Given the description of an element on the screen output the (x, y) to click on. 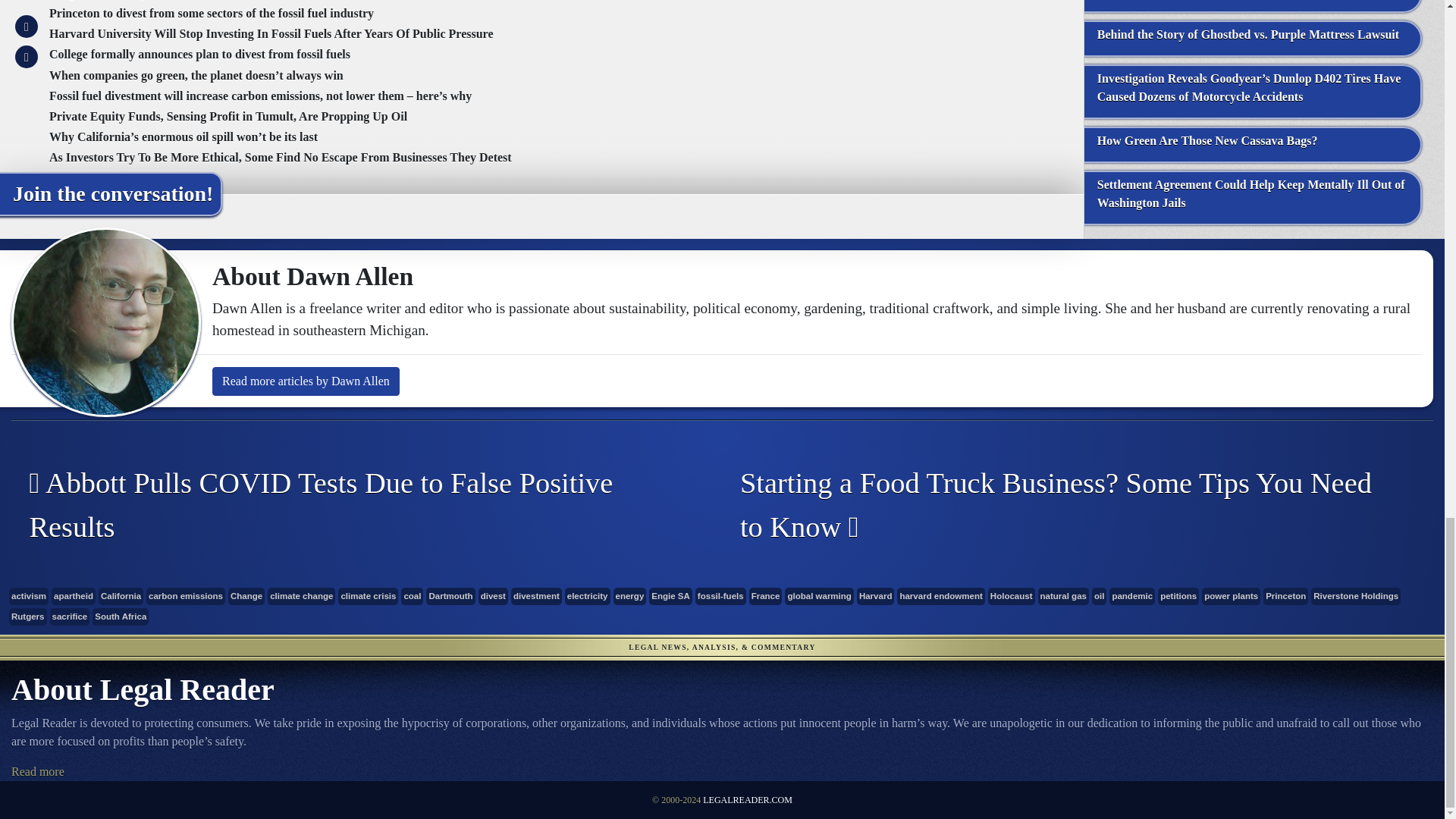
Read more articles by Dawn Allen (305, 380)
College formally announces plan to divest from fossil fuels (199, 53)
